Given the description of an element on the screen output the (x, y) to click on. 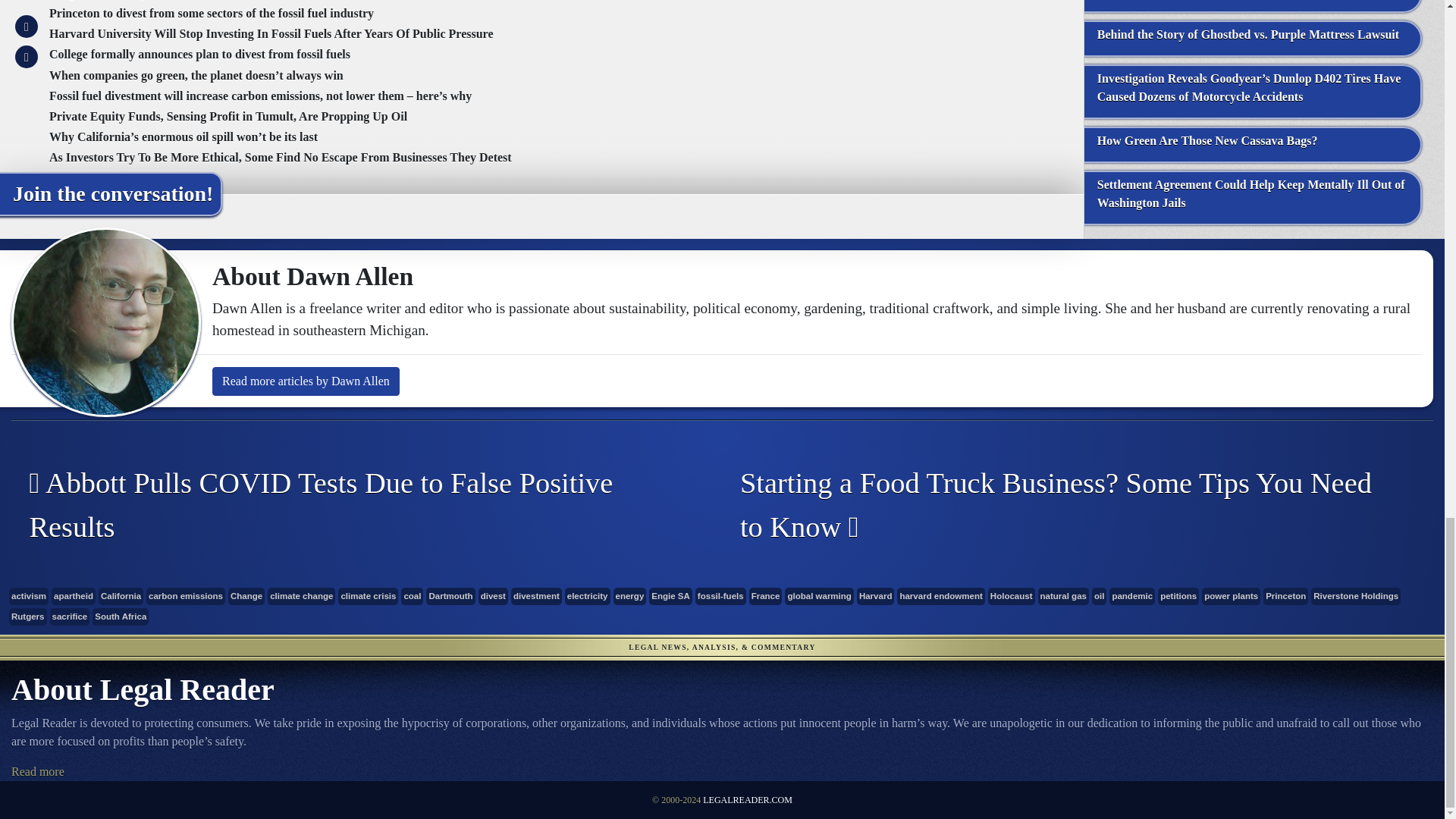
Read more articles by Dawn Allen (305, 380)
College formally announces plan to divest from fossil fuels (199, 53)
